Given the description of an element on the screen output the (x, y) to click on. 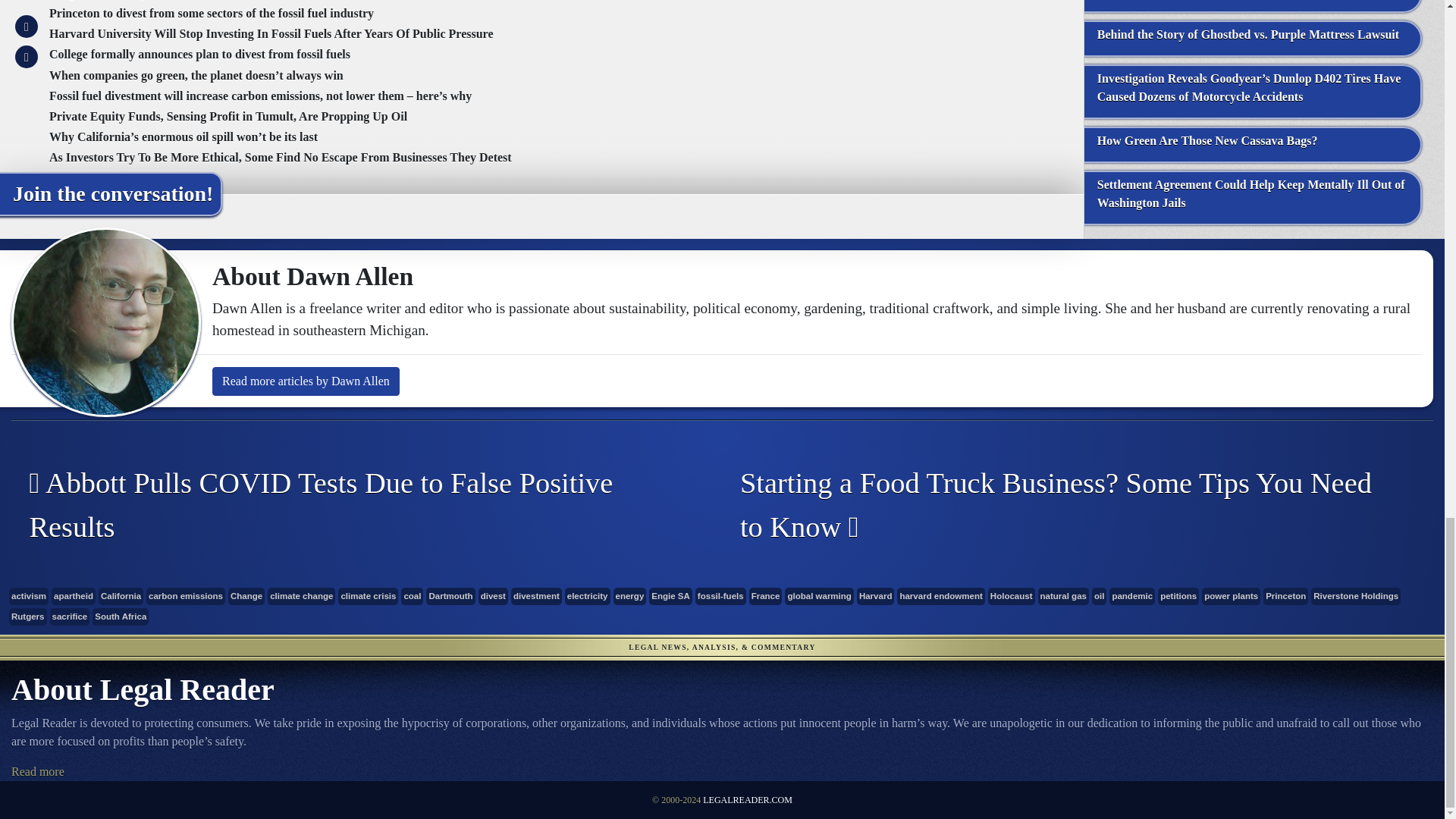
Read more articles by Dawn Allen (305, 380)
College formally announces plan to divest from fossil fuels (199, 53)
